Given the description of an element on the screen output the (x, y) to click on. 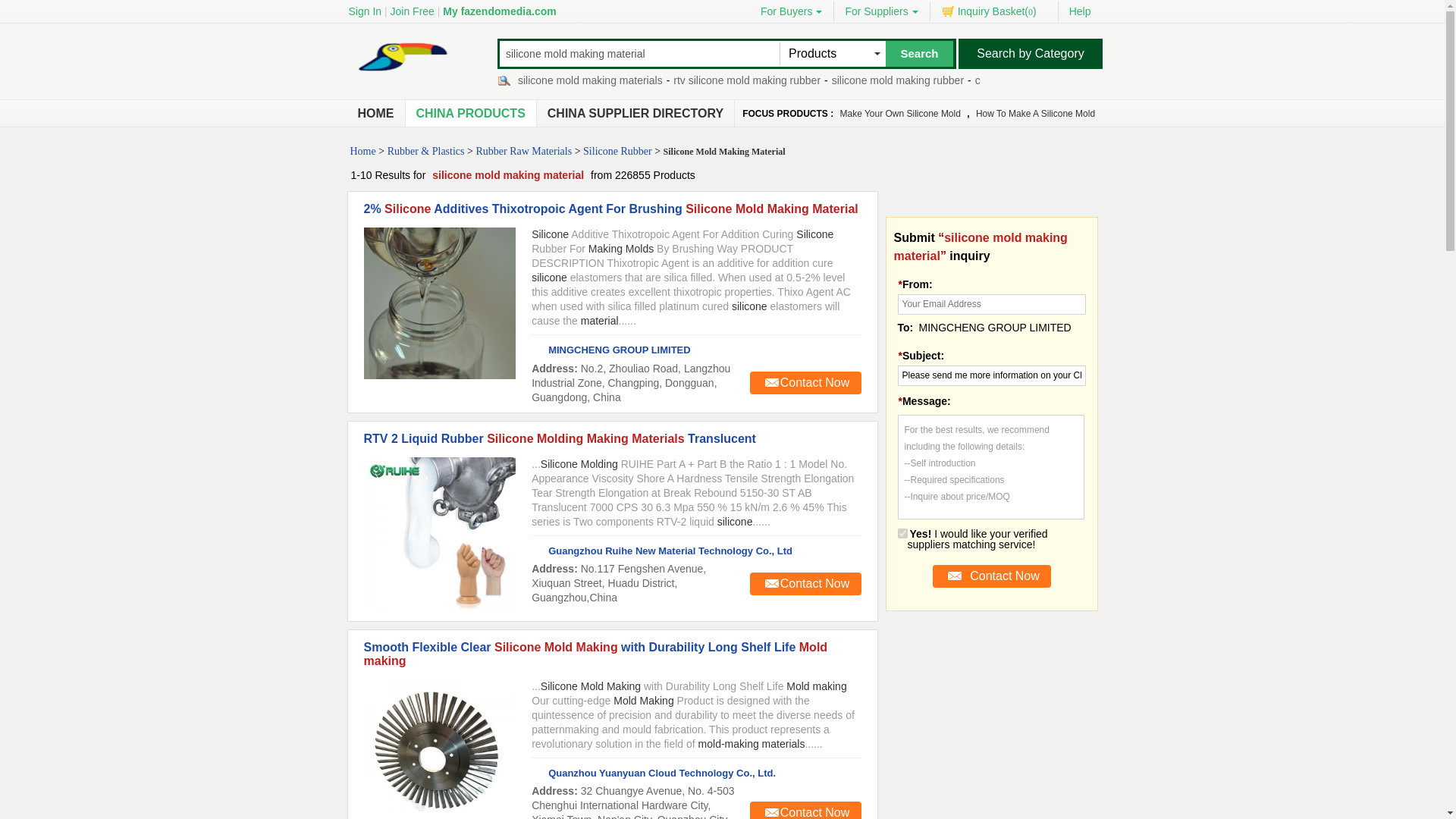
Guangzhou Ruihe New Material Technology Co., Ltd from china (661, 550)
Make Your Own Silicone Mold (899, 113)
Search (919, 53)
Contact Now (804, 382)
How To Make A Silicone Mold (1035, 113)
Home (375, 113)
Search (919, 53)
Rubber Raw Materials (524, 150)
For Suppliers (881, 11)
Quanzhou Yuanyuan Cloud Technology Co., Ltd. from china (653, 772)
